Given the description of an element on the screen output the (x, y) to click on. 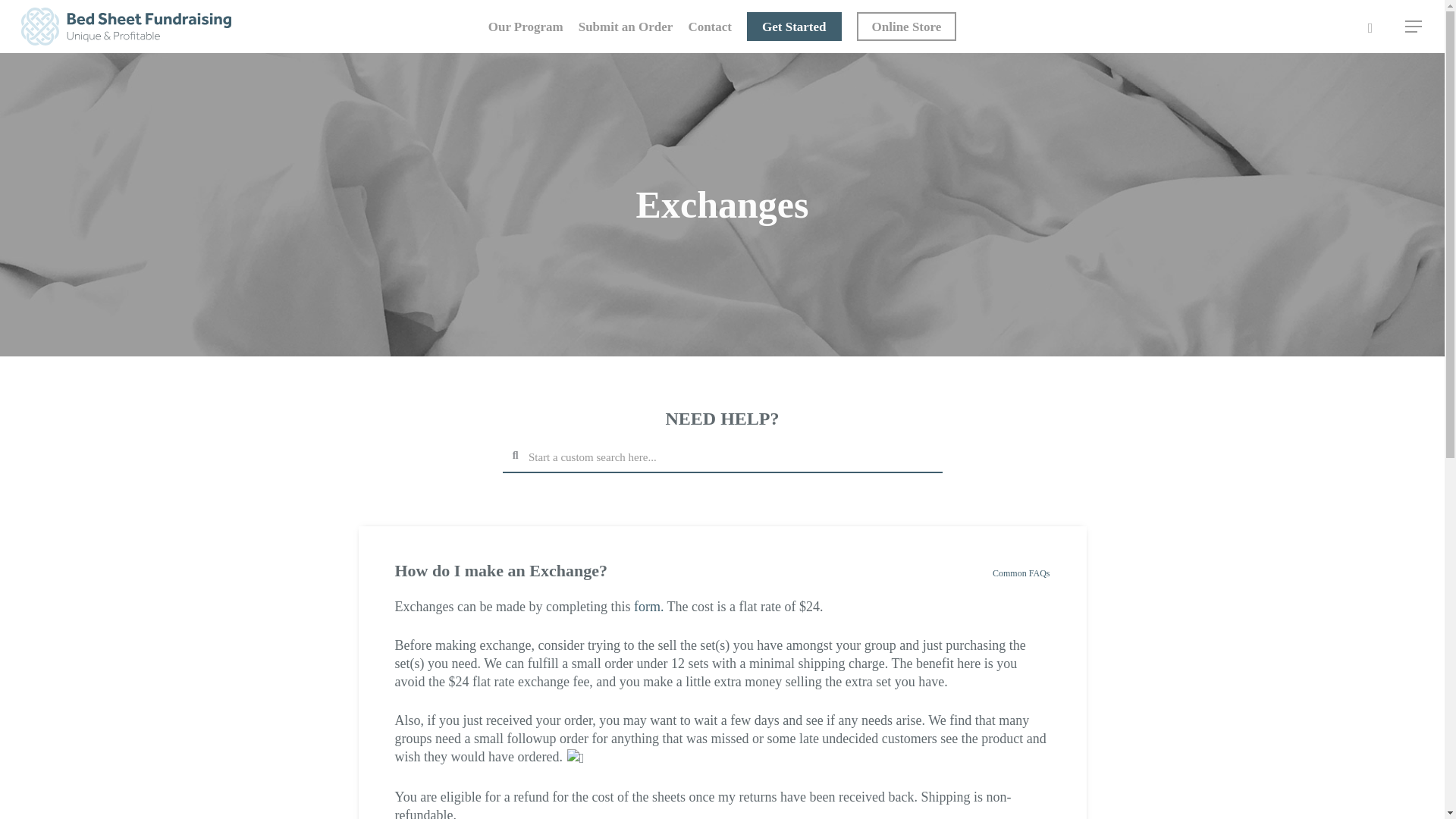
Common FAQs (1020, 573)
Submit an Order (625, 25)
Get Started (793, 25)
Our Program (525, 25)
Contact (709, 25)
Online Store (906, 25)
form. (648, 606)
